Given the description of an element on the screen output the (x, y) to click on. 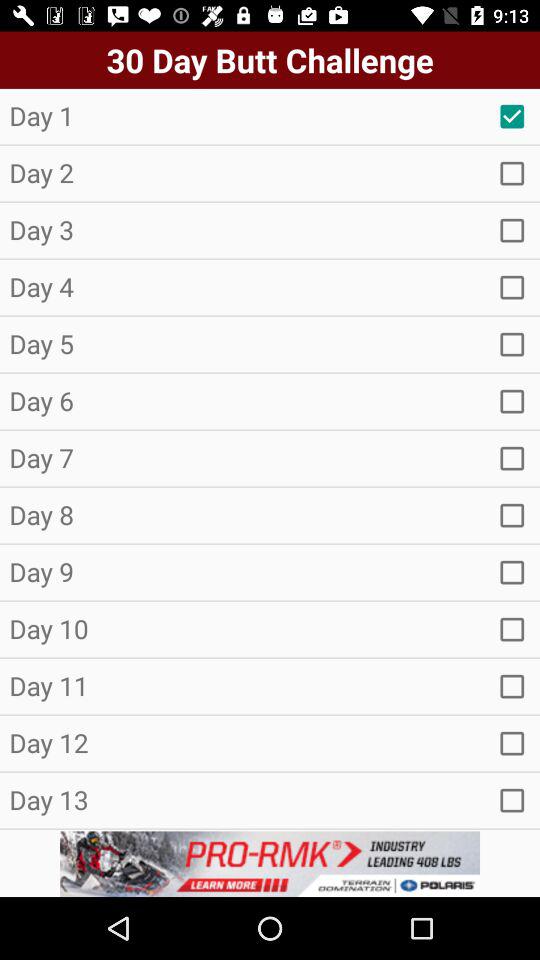
check box selection (512, 515)
